Given the description of an element on the screen output the (x, y) to click on. 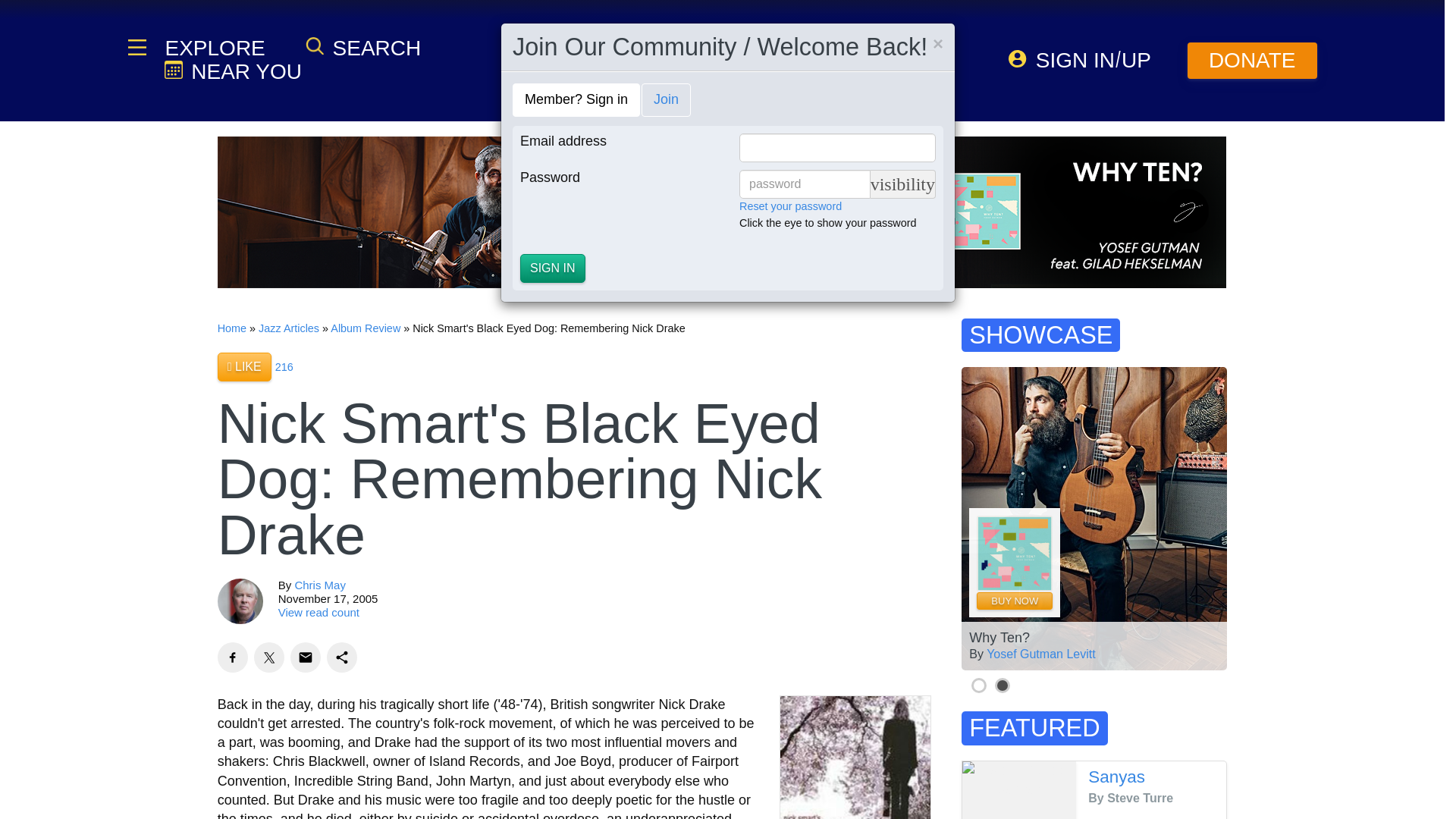
Album Review (365, 328)
LIKE (243, 366)
Click Here to Return to the All About Jazz Home Page (231, 328)
SEARCH (362, 47)
View read count (318, 612)
Home (231, 328)
Chris May (320, 584)
216 (284, 367)
Jazz Articles (288, 328)
Support All About Jazz and go ad-free! (1252, 60)
View Remembering Nick Drake at All About Jazz (854, 757)
Top recommended jazz articles (284, 367)
DONATE (1252, 60)
NEAR YOU (232, 71)
